Given the description of an element on the screen output the (x, y) to click on. 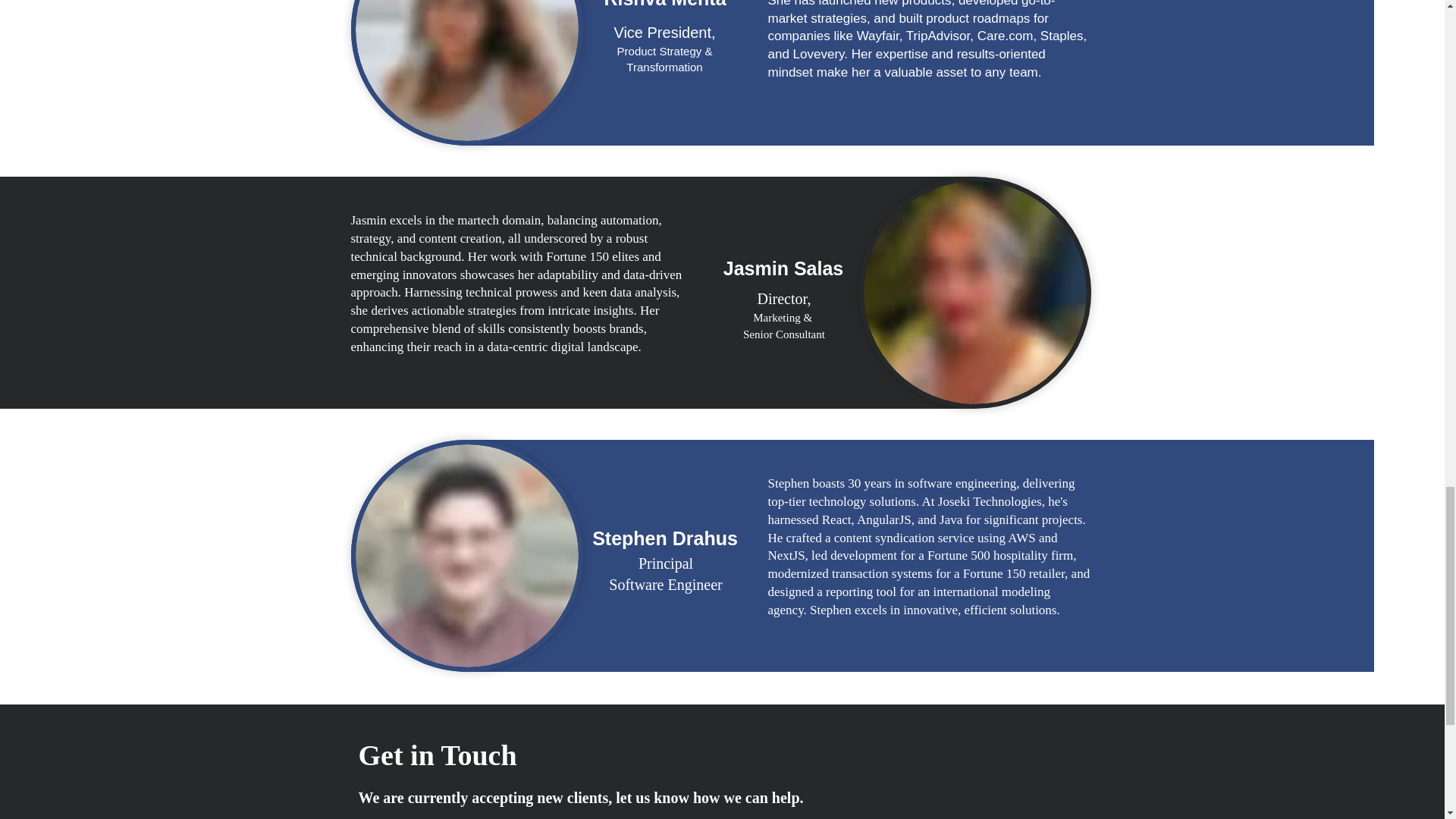
Stephen Drahus (665, 573)
Rishva Mehta (665, 532)
